Given the description of an element on the screen output the (x, y) to click on. 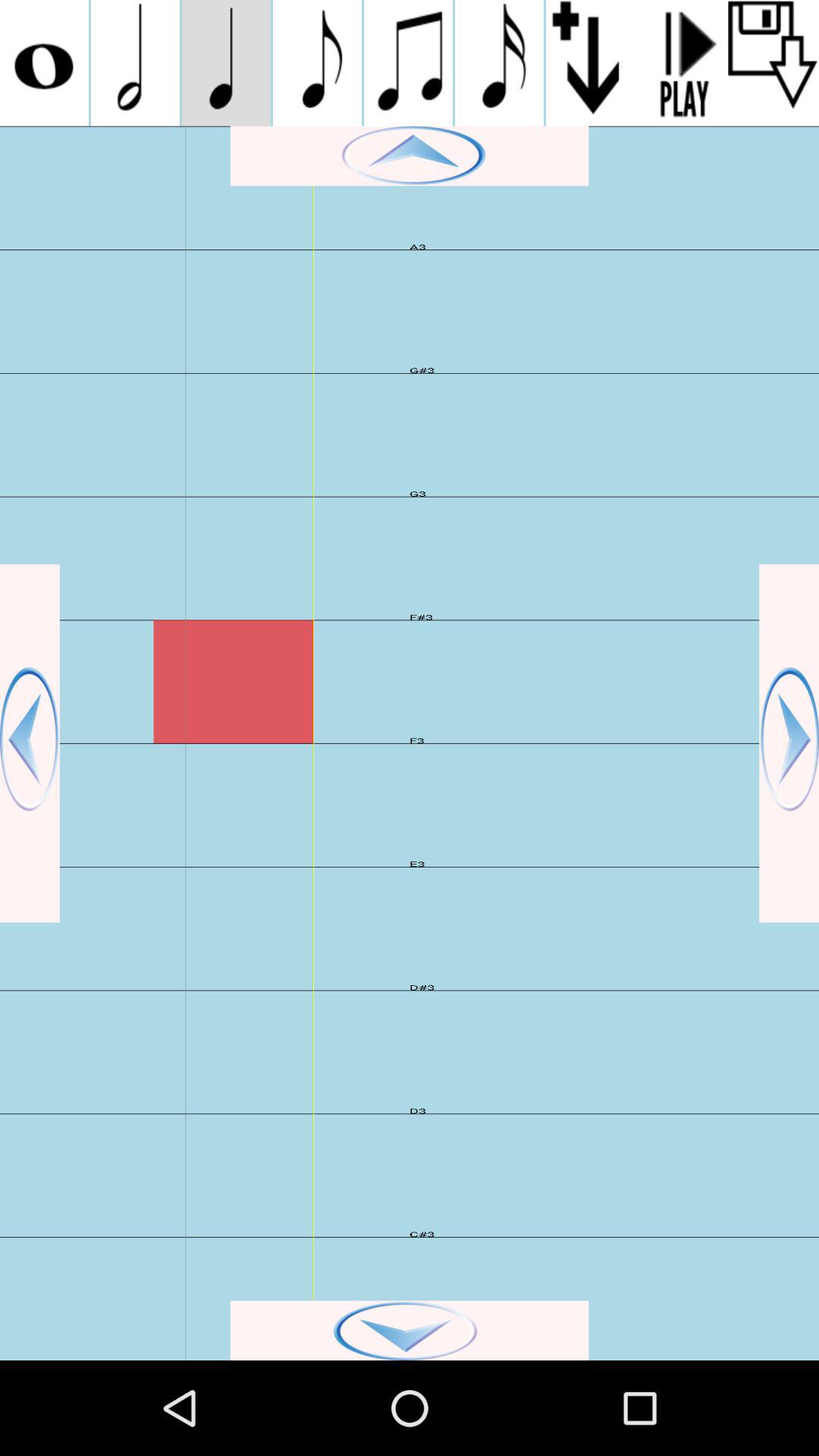
save button (773, 63)
